Given the description of an element on the screen output the (x, y) to click on. 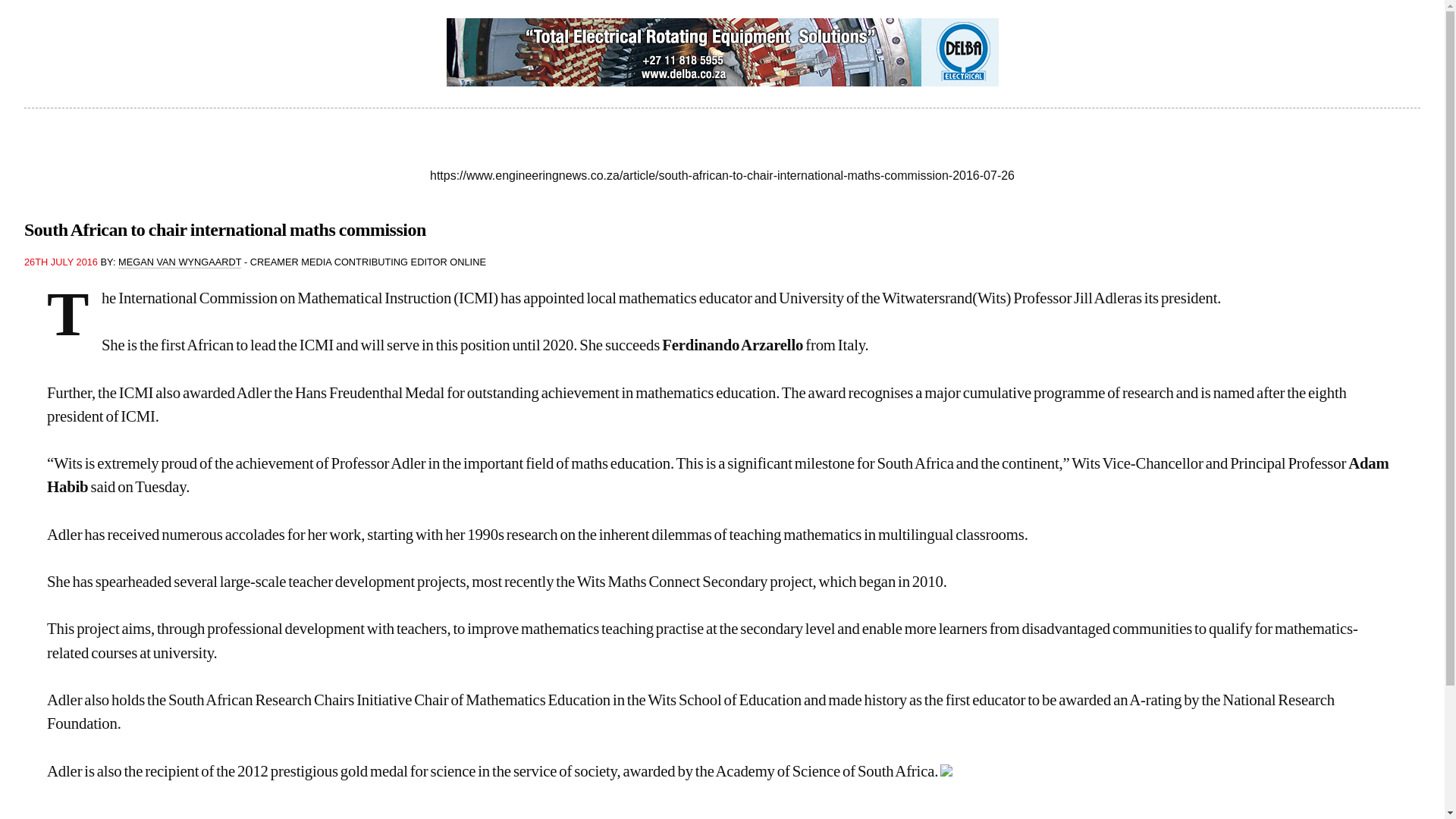
Engineering News (722, 145)
